Given the description of an element on the screen output the (x, y) to click on. 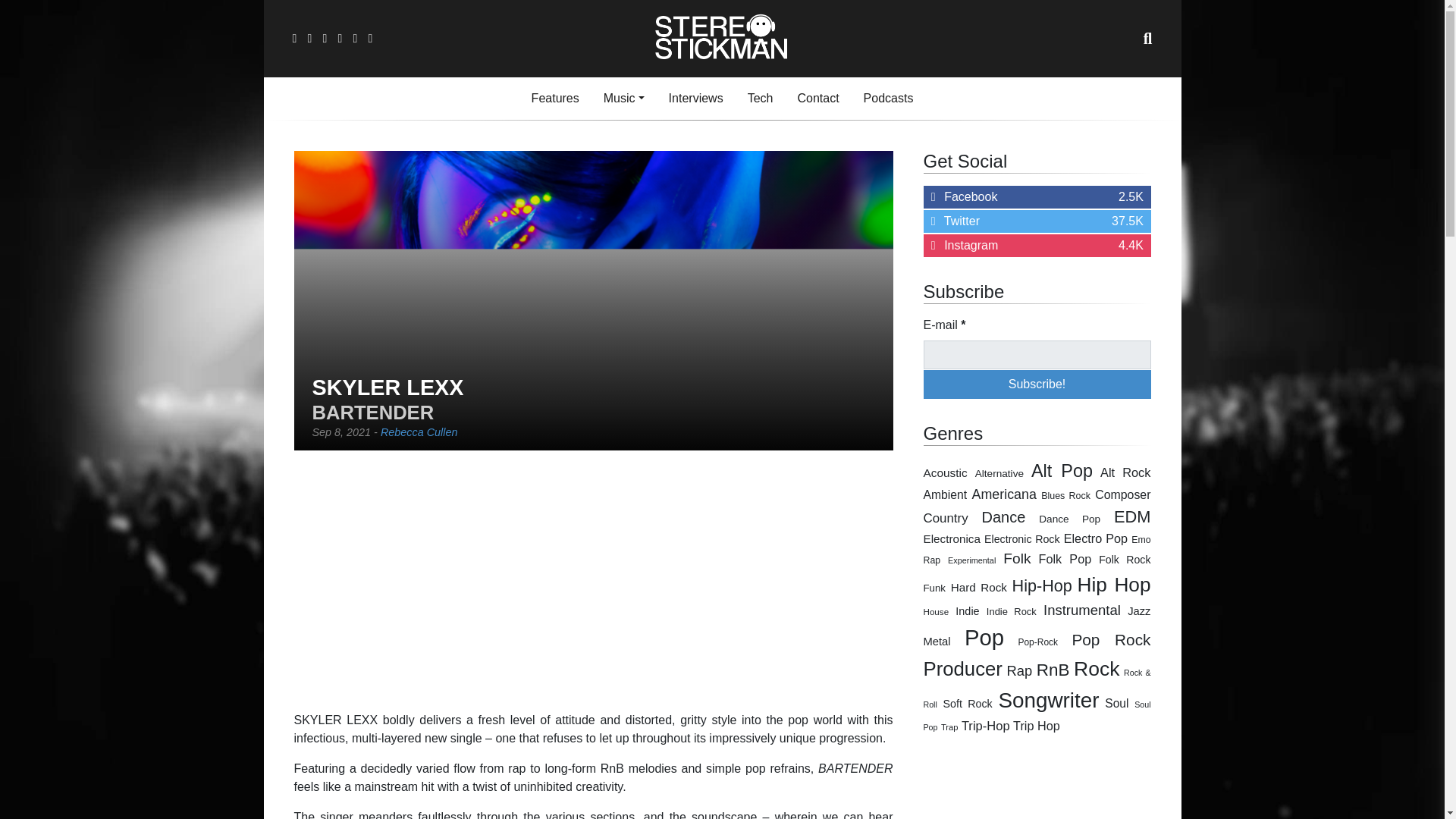
Contact (817, 98)
Contact (817, 98)
Interviews (695, 98)
Tech (760, 98)
Podcasts (888, 98)
Podcasts (888, 98)
Features (555, 98)
Subscribe! (1037, 384)
Music (623, 98)
Tech (760, 98)
